Given the description of an element on the screen output the (x, y) to click on. 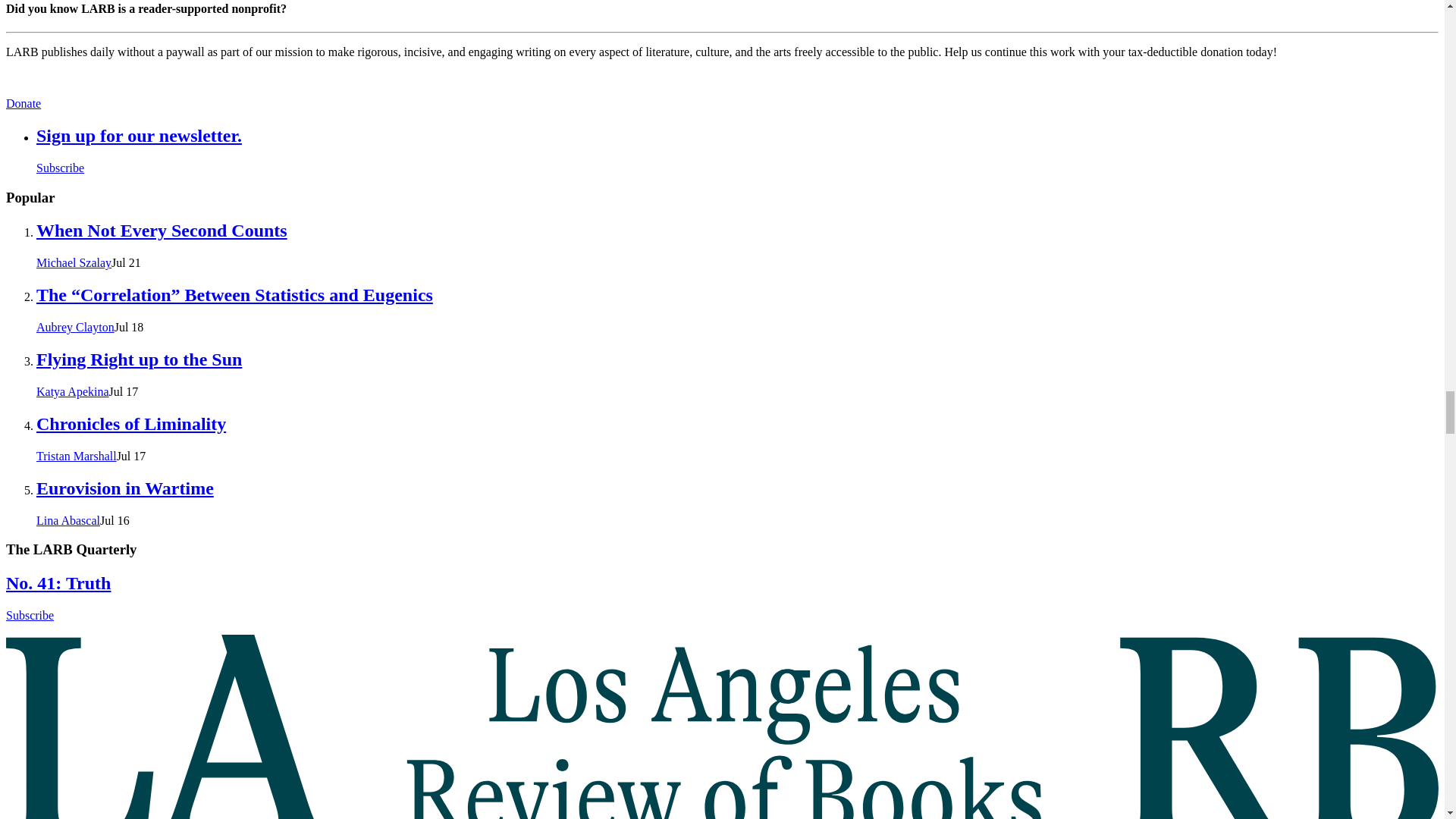
Sign up for our newsletter. (138, 135)
